Given the description of an element on the screen output the (x, y) to click on. 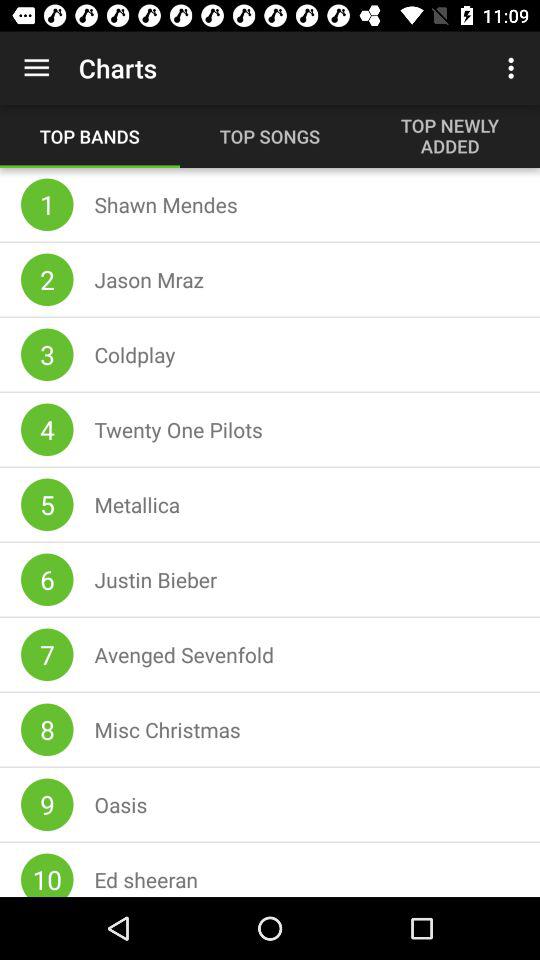
tap the coldplay (135, 354)
